Given the description of an element on the screen output the (x, y) to click on. 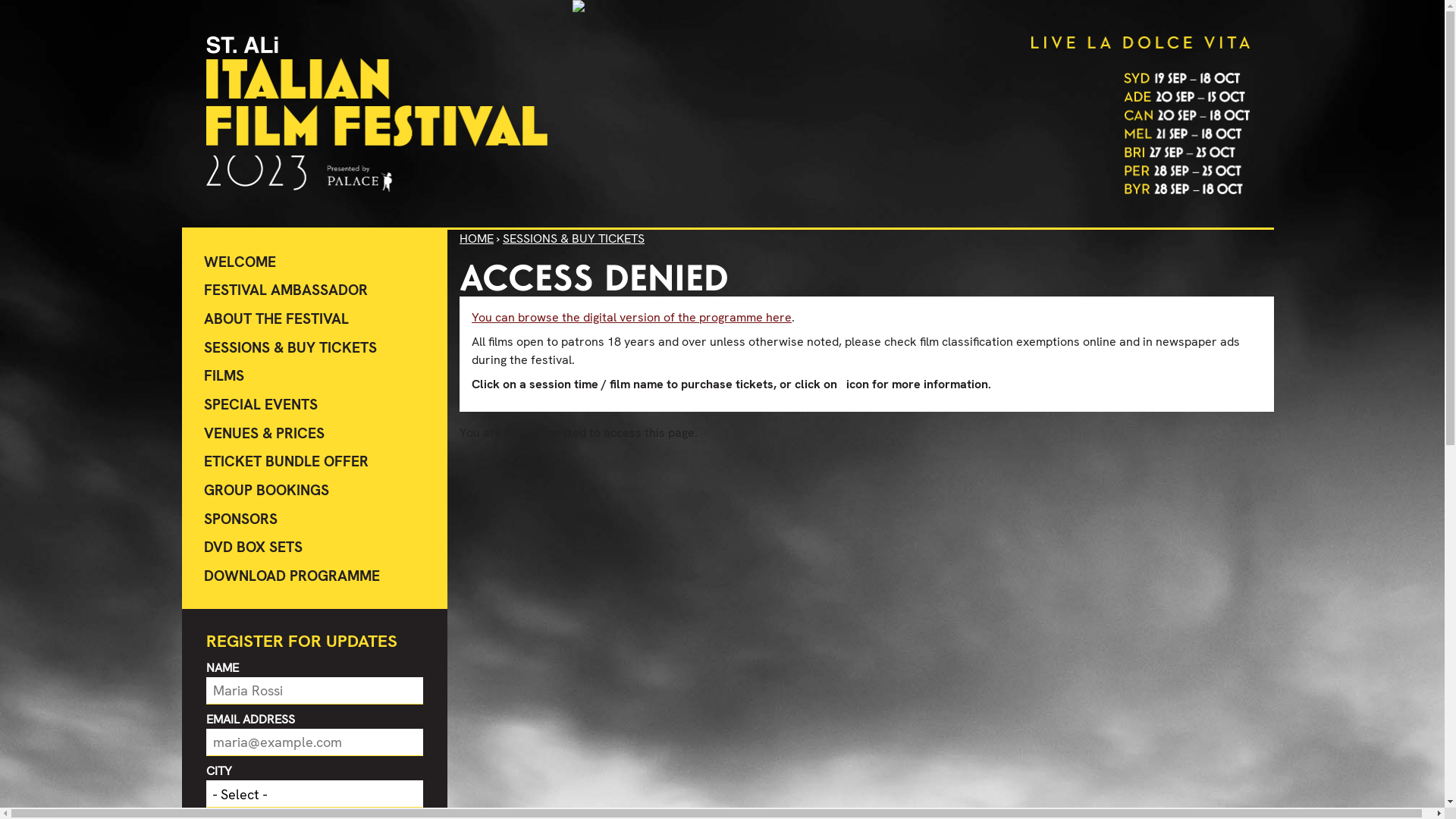
SESSIONS & BUY TICKETS Element type: text (573, 238)
Back to top Element type: text (459, 260)
SPONSORS Element type: text (314, 519)
DOWNLOAD PROGRAMME Element type: text (314, 575)
VENUES & PRICES Element type: text (314, 433)
WELCOME Element type: text (314, 261)
ABOUT THE FESTIVAL Element type: text (314, 318)
You can browse the digital version of the programme here Element type: text (631, 317)
ETICKET BUNDLE OFFER Element type: text (314, 462)
FILMS Element type: text (314, 376)
FESTIVAL AMBASSADOR Element type: text (314, 290)
DVD BOX SETS Element type: text (314, 547)
SPECIAL EVENTS Element type: text (314, 404)
GROUP BOOKINGS Element type: text (314, 490)
SESSIONS & BUY TICKETS Element type: text (314, 347)
Skip to main content Element type: text (0, 1)
HOME Element type: text (476, 238)
Home Element type: hover (376, 113)
